Given the description of an element on the screen output the (x, y) to click on. 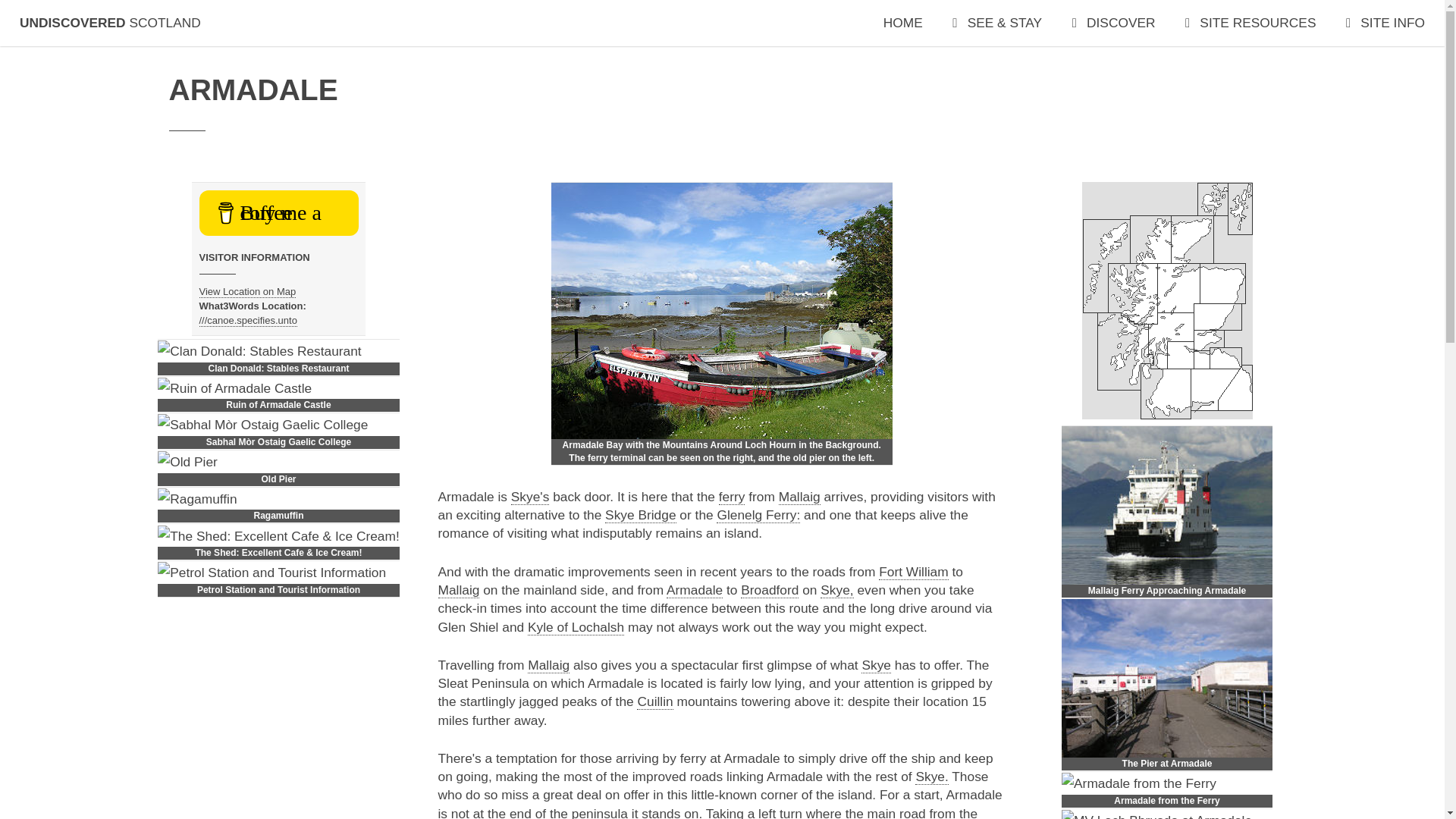
SITE INFO (1385, 22)
DISCOVER (1113, 22)
SITE RESOURCES (1250, 22)
UNDISCOVERED SCOTLAND (110, 22)
HOME (903, 22)
